Given the description of an element on the screen output the (x, y) to click on. 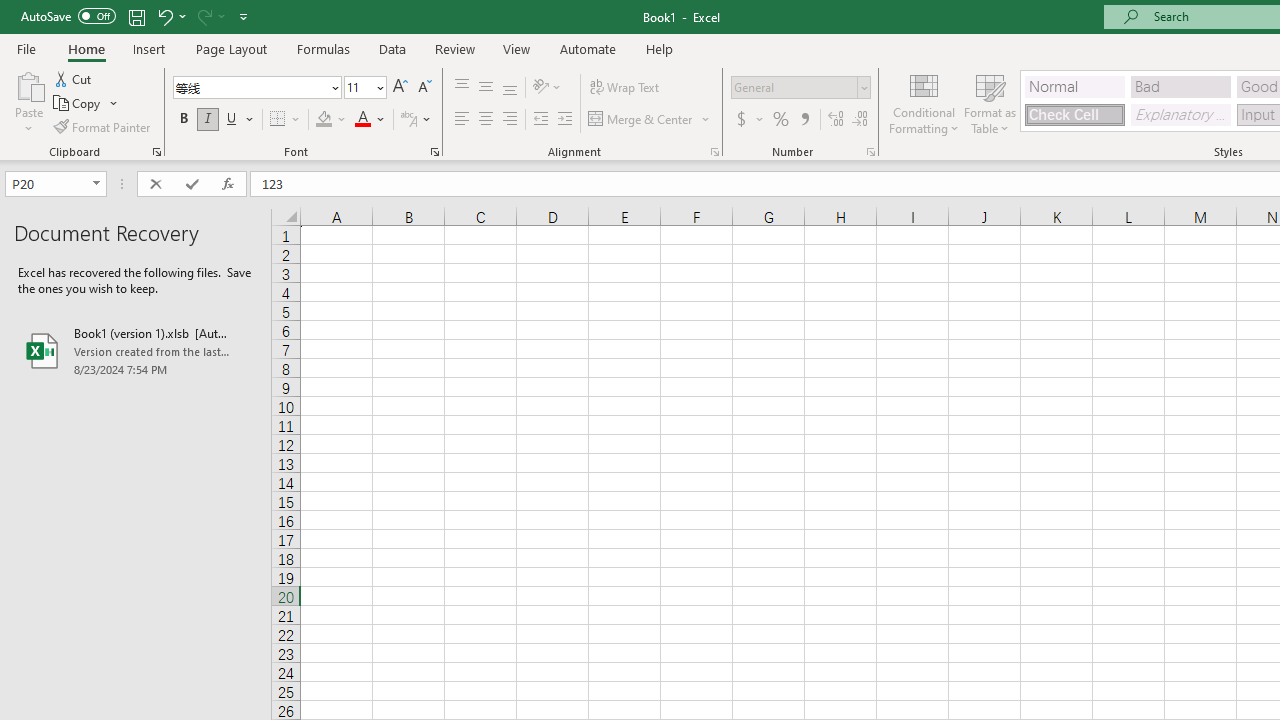
Middle Align (485, 87)
Bottom Align (509, 87)
Quick Access Toolbar (136, 16)
Fill Color (331, 119)
Accounting Number Format (741, 119)
Borders (285, 119)
Show Phonetic Field (416, 119)
Decrease Indent (540, 119)
Font (250, 87)
Percent Style (781, 119)
Center (485, 119)
Bottom Border (278, 119)
Font Color (370, 119)
Wrap Text (624, 87)
